Given the description of an element on the screen output the (x, y) to click on. 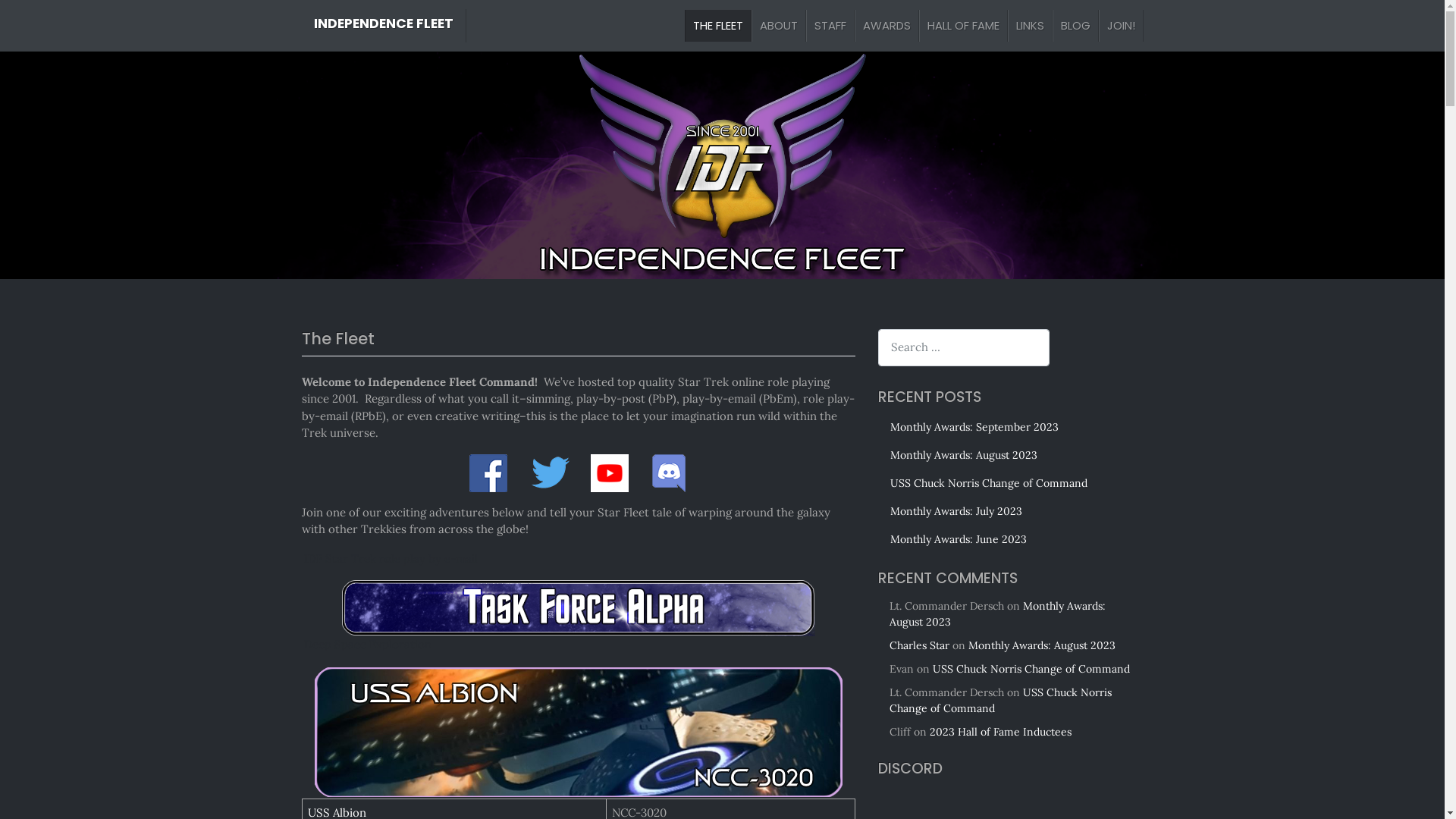
USS Chuck Norris Change of Command Element type: text (1010, 483)
BLOG Element type: text (1075, 25)
INDEPENDENCE FLEET Element type: text (383, 23)
2023 Hall of Fame Inductees Element type: text (1000, 731)
Charles Star Element type: text (918, 645)
ABOUT Element type: text (777, 25)
Search Element type: text (31, 18)
AWARDS Element type: text (885, 25)
Monthly Awards: August 2023 Element type: text (1010, 455)
USS Chuck Norris Change of Command Element type: text (1030, 668)
Monthly Awards: June 2023 Element type: text (1010, 539)
THE FLEET Element type: text (717, 25)
Monthly Awards: July 2023 Element type: text (1010, 511)
Monthly Awards: August 2023 Element type: text (1040, 645)
STAFF Element type: text (829, 25)
Monthly Awards: August 2023 Element type: text (996, 613)
USS Chuck Norris Change of Command Element type: text (999, 700)
JOIN! Element type: text (1120, 25)
Monthly Awards: September 2023 Element type: text (1010, 427)
HALL OF FAME Element type: text (963, 25)
Search for: Element type: hover (963, 347)
LINKS Element type: text (1029, 25)
